Given the description of an element on the screen output the (x, y) to click on. 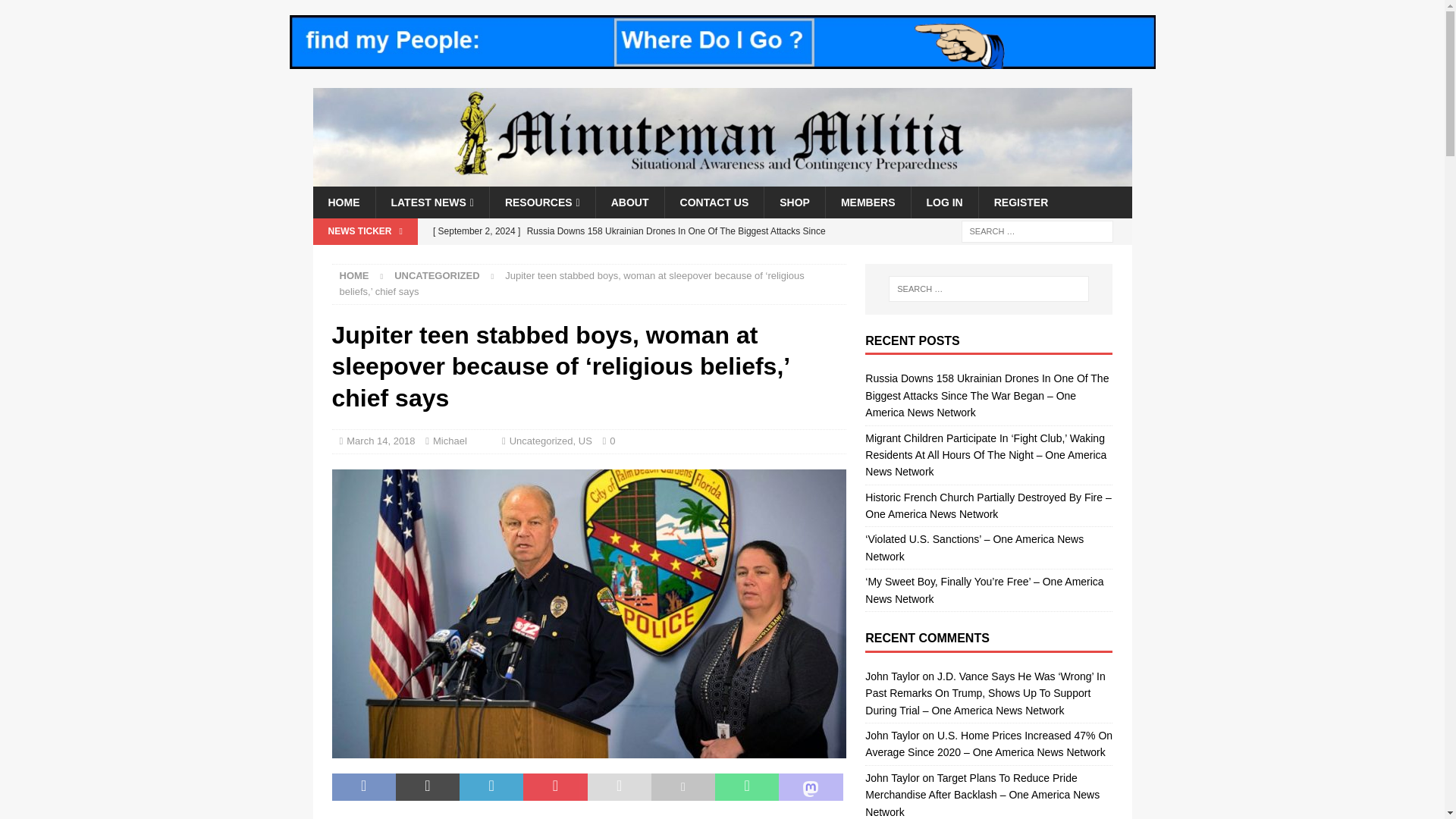
Uncategorized (436, 275)
Print this article (682, 786)
CONTACT US (713, 202)
Minuteman Militia (722, 177)
MEMBERS (868, 202)
HOME (343, 202)
Tweet This Post (428, 786)
RESOURCES (542, 202)
Share on LinkedIn (491, 786)
LOG IN (943, 202)
